Given the description of an element on the screen output the (x, y) to click on. 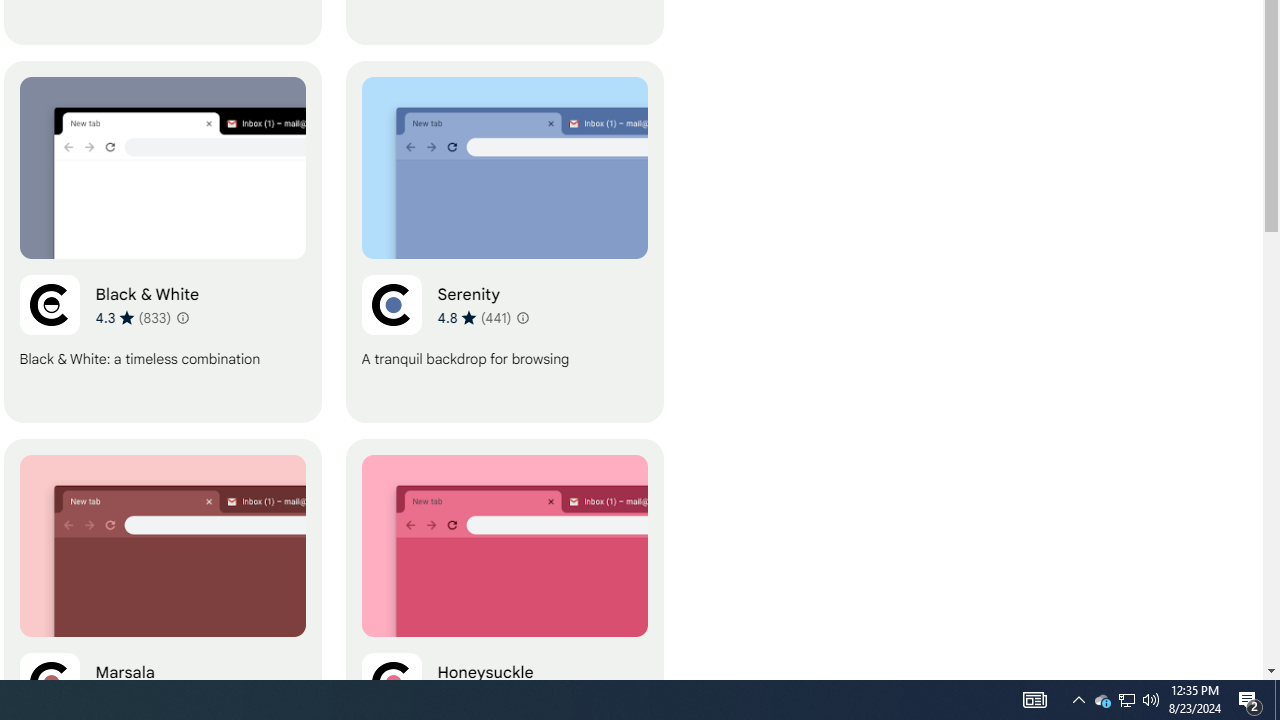
Learn more about results and reviews "Black & White" (182, 317)
Serenity (504, 242)
Black & White (162, 242)
Average rating 4.8 out of 5 stars. 441 ratings. (474, 317)
Average rating 4.3 out of 5 stars. 833 ratings. (132, 317)
Learn more about results and reviews "Serenity" (522, 317)
